Given the description of an element on the screen output the (x, y) to click on. 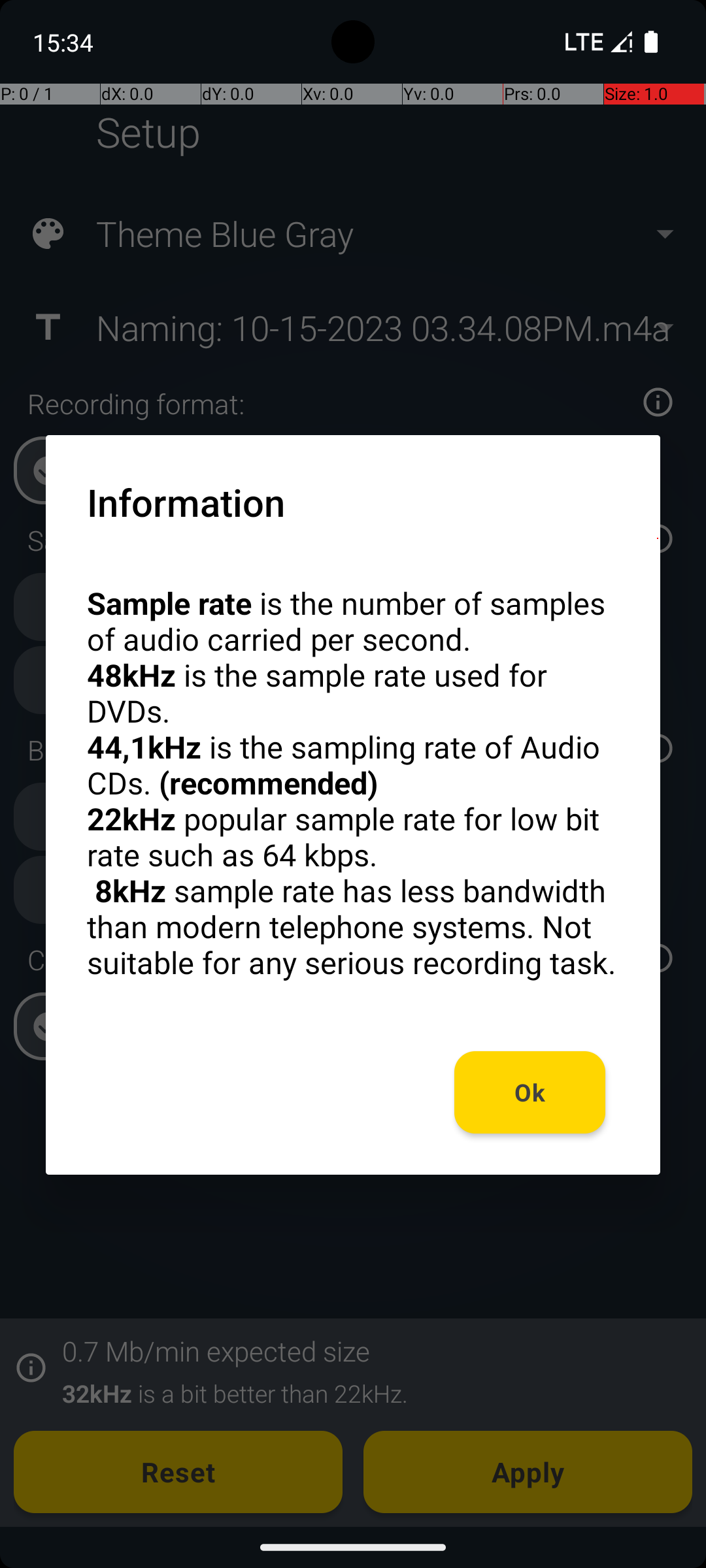
Information Element type: android.widget.TextView (185, 501)
Sample rate is the number of samples of audio carried per second. 
48kHz is the sample rate used for DVDs. 
44,1kHz is the sampling rate of Audio CDs. (recommended) 
22kHz popular sample rate for low bit rate such as 64 kbps. 
 8kHz sample rate has less bandwidth than modern telephone systems. Not suitable for any serious recording task.  Element type: android.widget.TextView (352, 782)
Ok Element type: android.widget.Button (529, 1092)
